Given the description of an element on the screen output the (x, y) to click on. 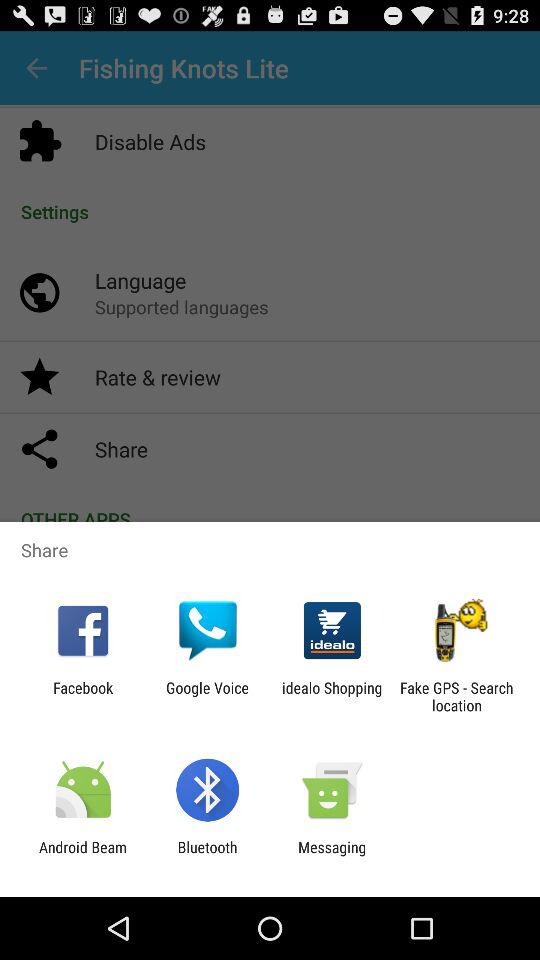
turn off icon next to the idealo shopping (456, 696)
